Given the description of an element on the screen output the (x, y) to click on. 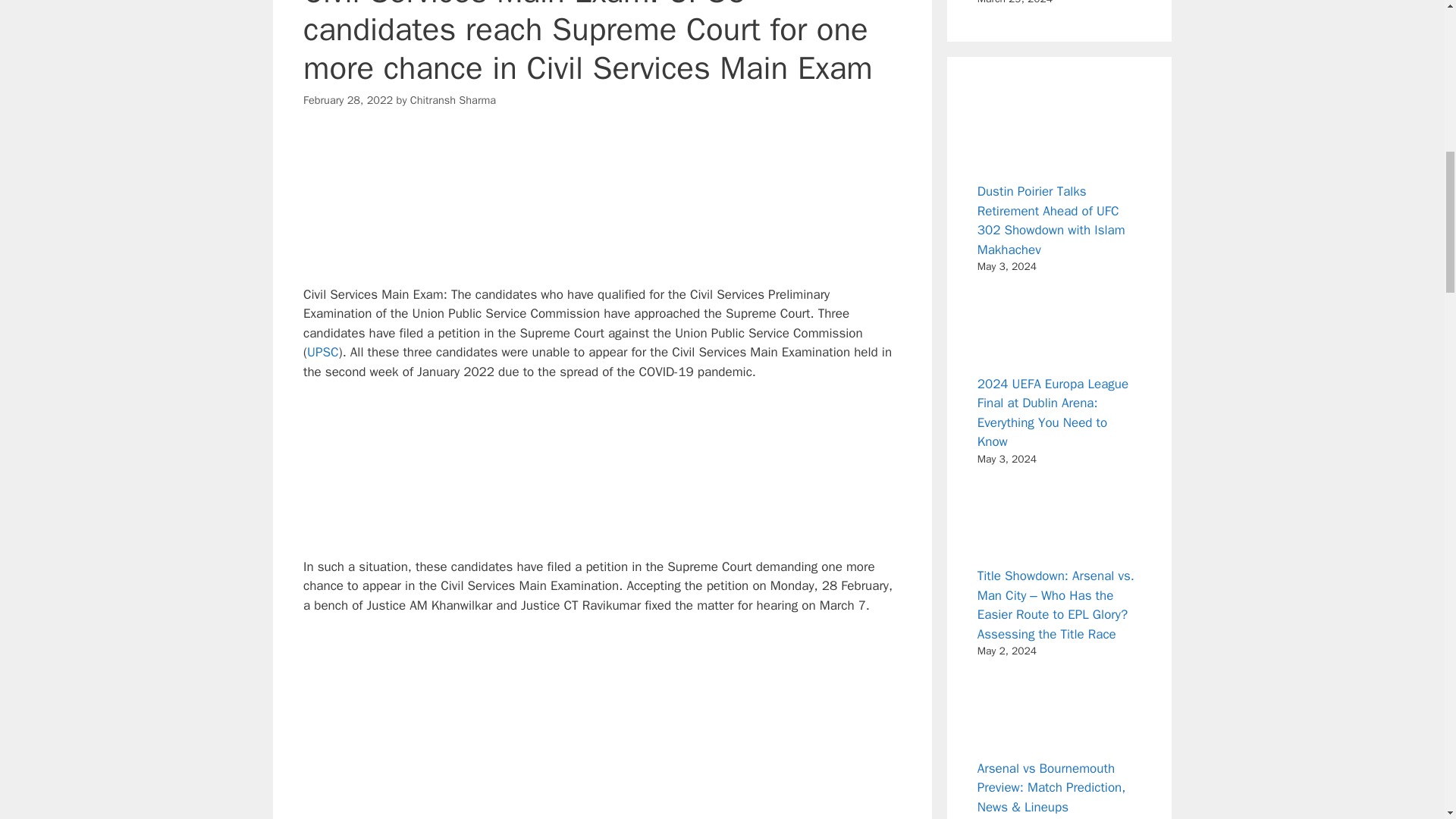
Advertisement (601, 210)
View all posts by Chitransh Sharma (453, 100)
UPSC (322, 351)
Advertisement (601, 476)
Chitransh Sharma (453, 100)
